Given the description of an element on the screen output the (x, y) to click on. 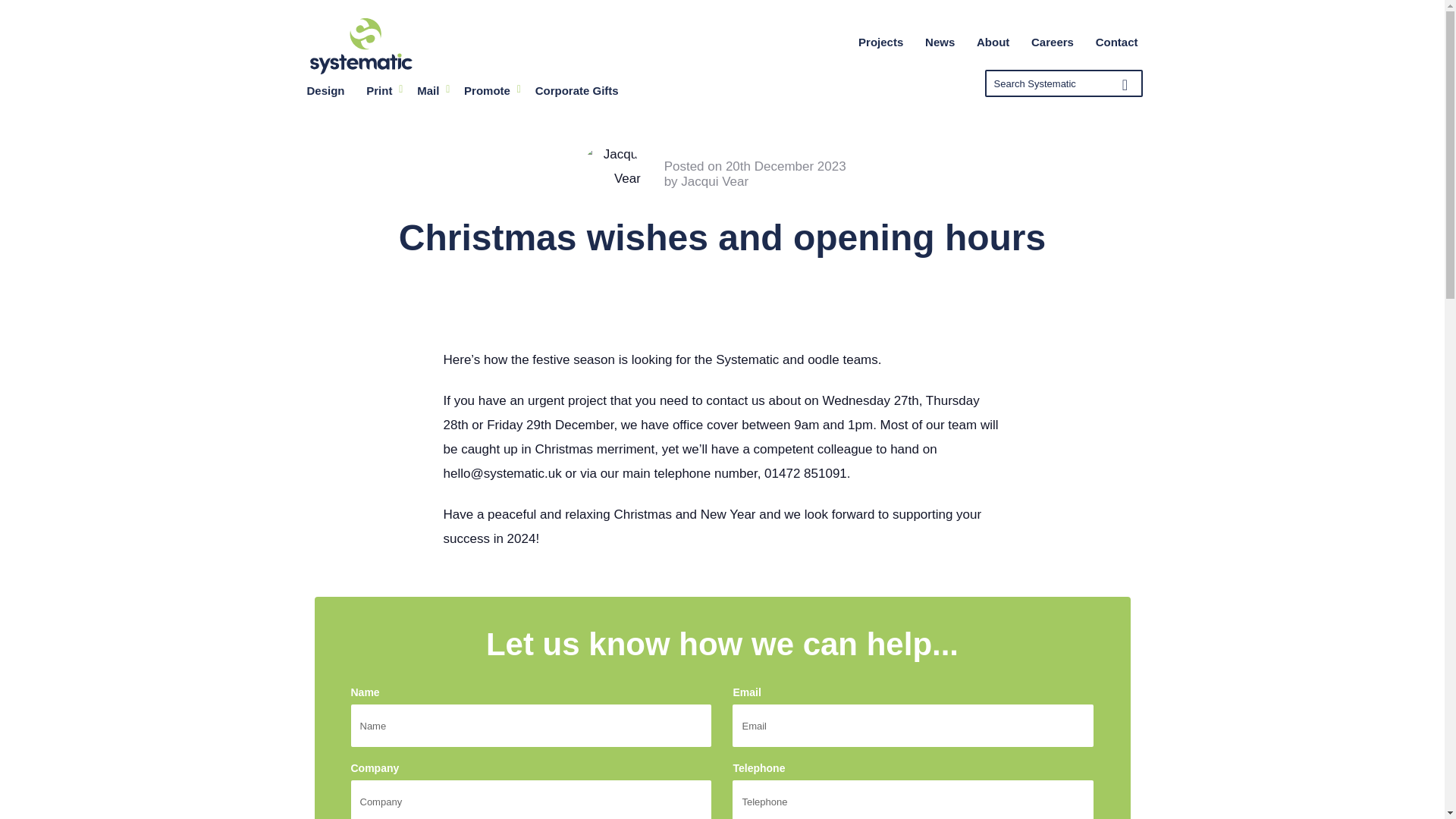
Print (380, 90)
Projects (880, 42)
News (939, 42)
Corporate Gifts (576, 90)
Design (325, 90)
Mail (429, 90)
Careers (1052, 42)
Promote (488, 90)
About (992, 42)
Contact (1116, 42)
